Given the description of an element on the screen output the (x, y) to click on. 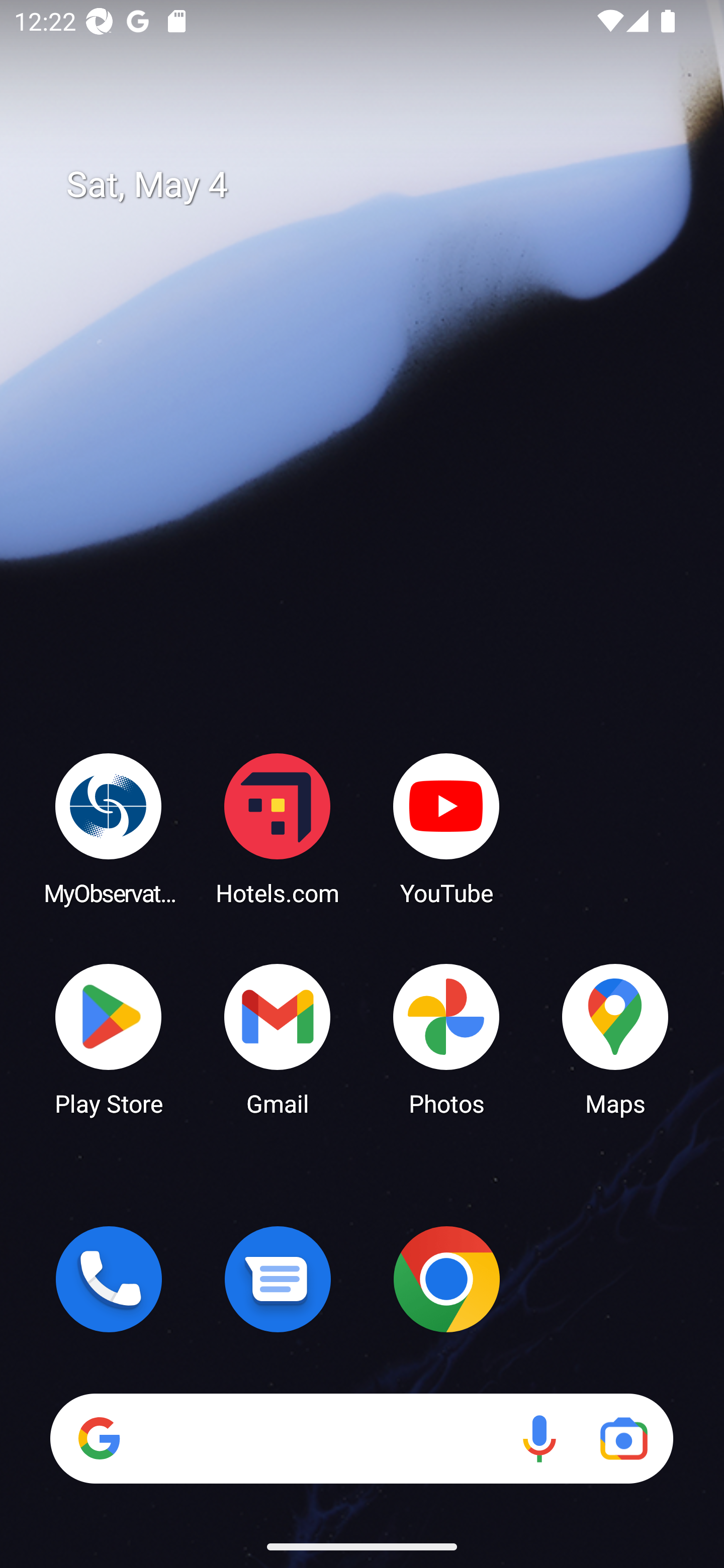
Sat, May 4 (375, 184)
MyObservatory (108, 828)
Hotels.com (277, 828)
YouTube (445, 828)
Play Store (108, 1038)
Gmail (277, 1038)
Photos (445, 1038)
Maps (615, 1038)
Phone (108, 1279)
Messages (277, 1279)
Chrome (446, 1279)
Search Voice search Google Lens (361, 1438)
Voice search (539, 1438)
Google Lens (623, 1438)
